Given the description of an element on the screen output the (x, y) to click on. 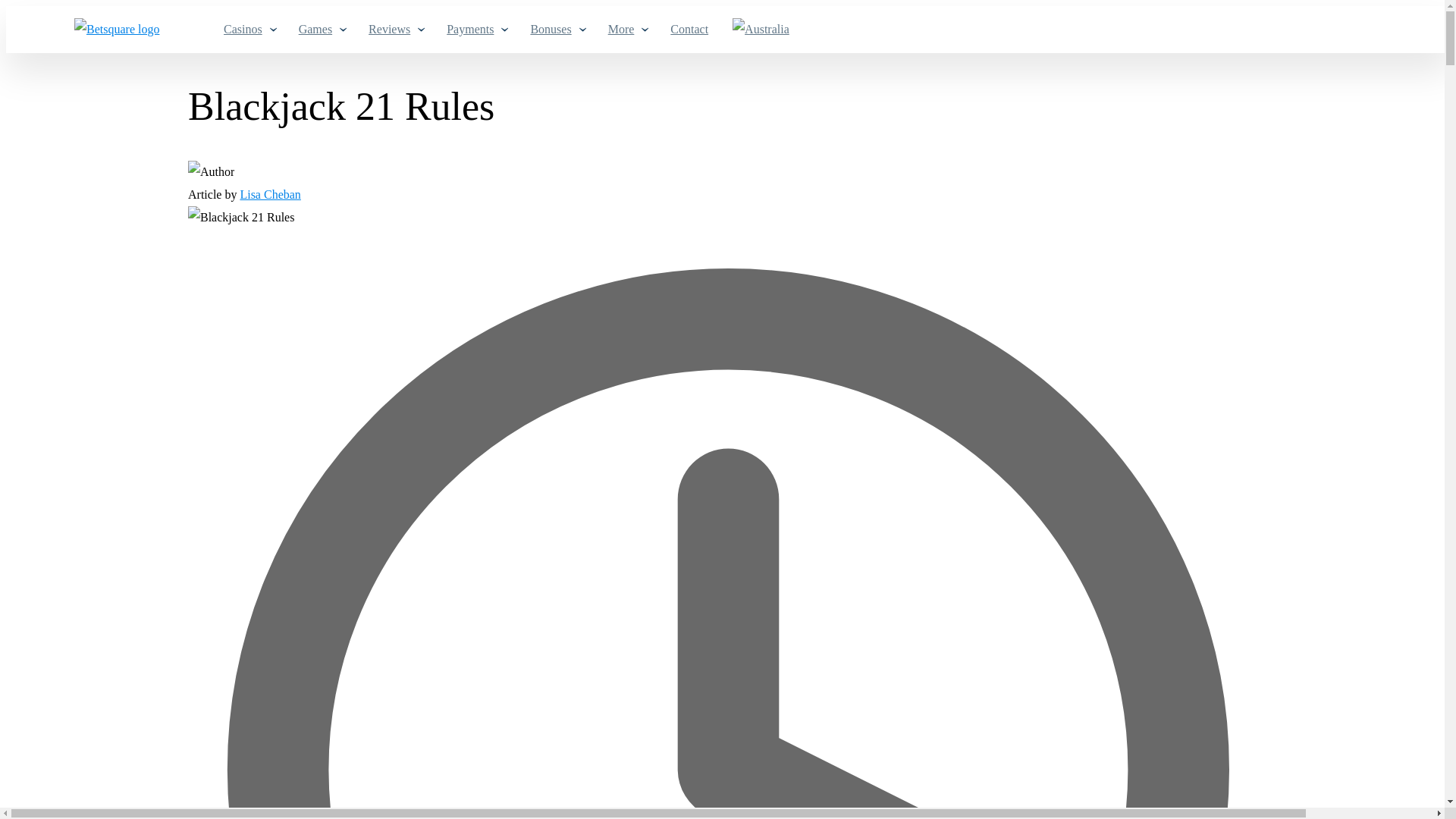
Casinos (249, 29)
Reviews (395, 29)
Games (320, 29)
